Given the description of an element on the screen output the (x, y) to click on. 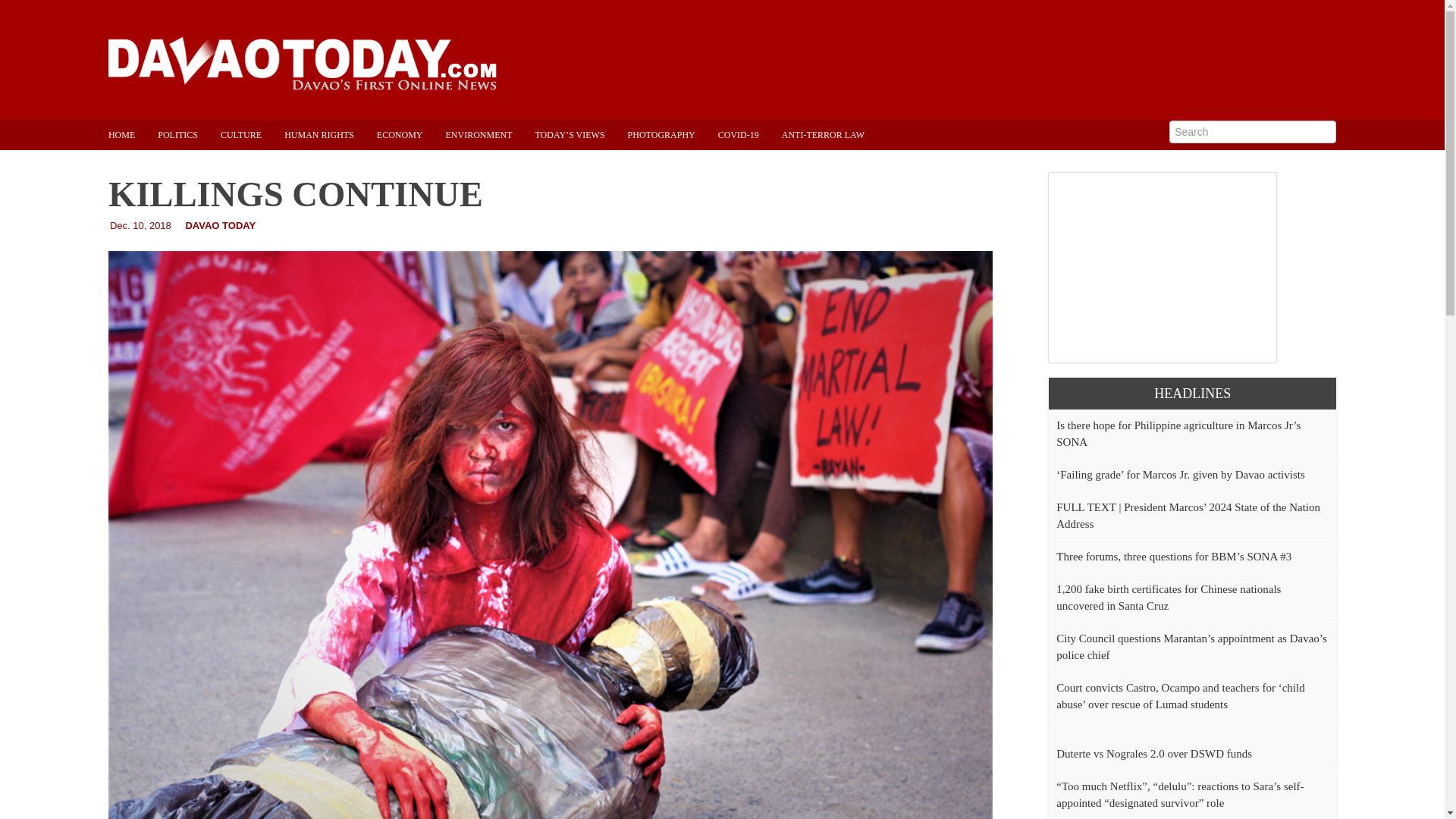
POLITICS (189, 134)
CULTURE (252, 134)
Duterte vs Nograles 2.0 over DSWD funds (1154, 762)
ANTI-TERROR LAW (833, 134)
HOME (132, 134)
ENVIRONMENT (489, 134)
DAVAO TODAY (220, 225)
PHOTOGRAPHY (672, 134)
COVID-19 (749, 134)
ECONOMY (411, 134)
HUMAN RIGHTS (330, 134)
Posts by DAVAO TODAY (220, 225)
